Given the description of an element on the screen output the (x, y) to click on. 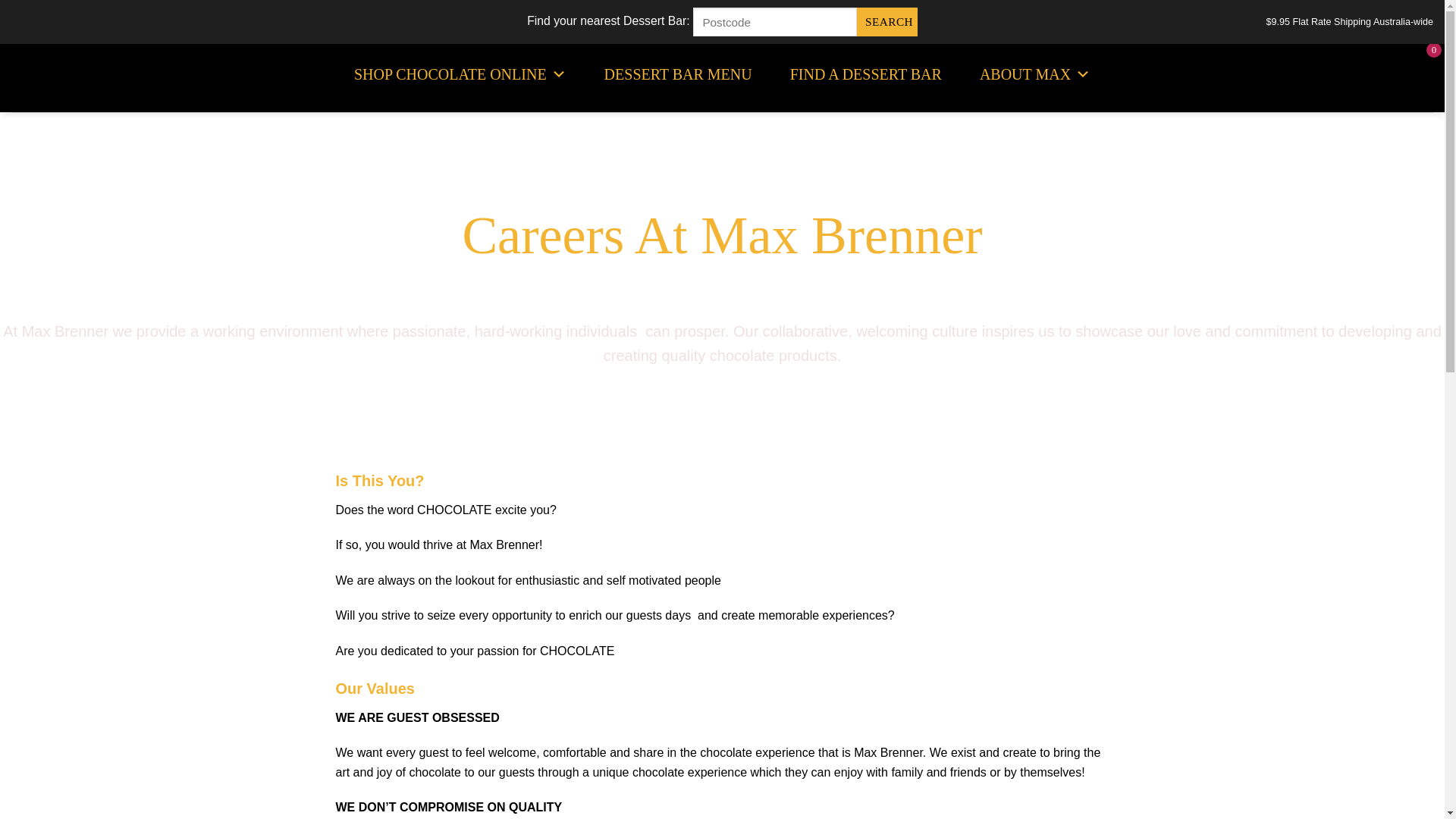
0 Element type: text (1419, 74)
SHOP CHOCOLATE ONLINE Element type: text (460, 74)
ABOUT MAX Element type: text (1034, 74)
FIND A DESSERT BAR Element type: text (865, 74)
DESSERT BAR MENU Element type: text (678, 74)
SEARCH Element type: text (886, 21)
Skip to content Element type: text (0, 0)
